Given the description of an element on the screen output the (x, y) to click on. 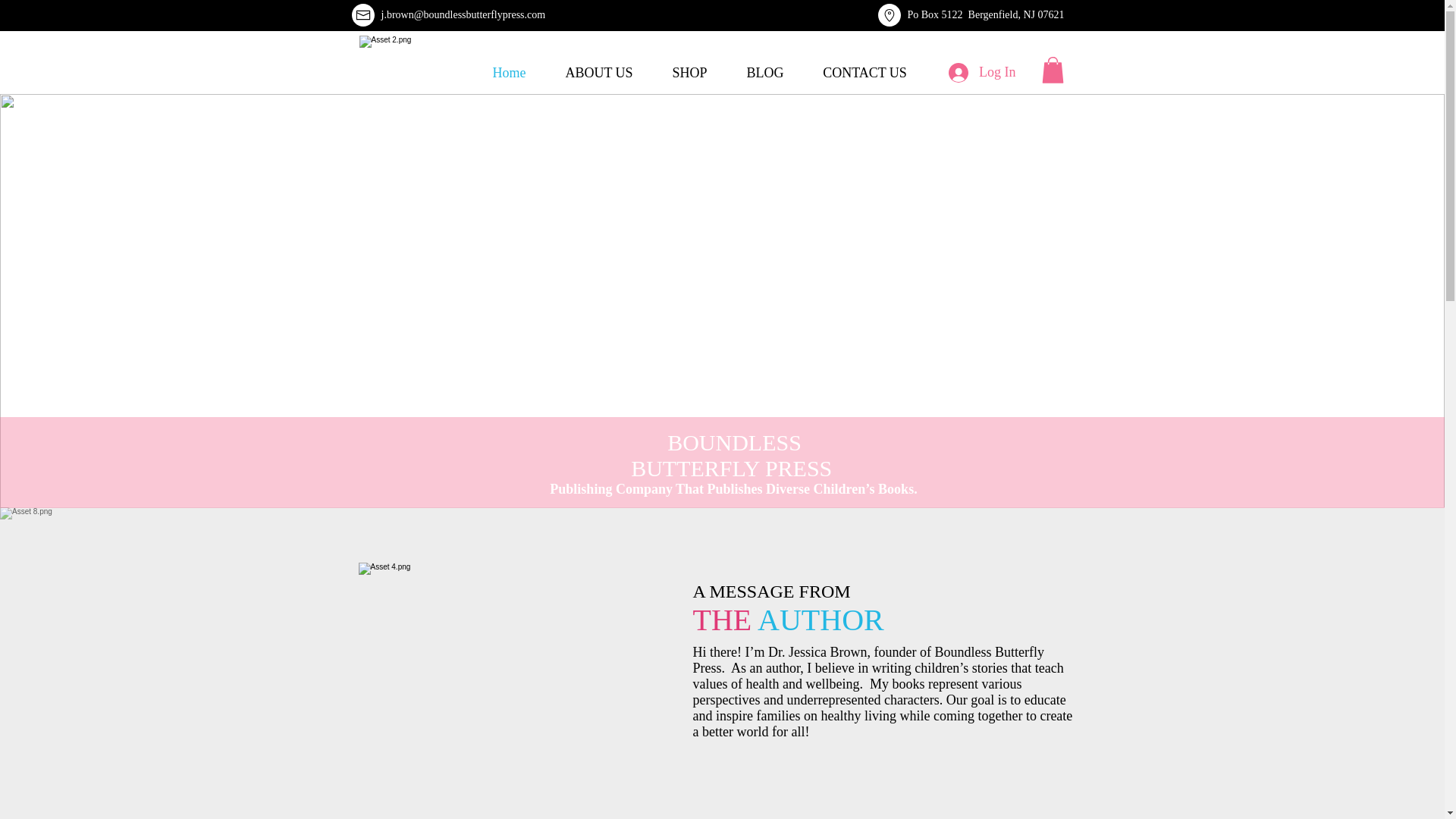
Home (509, 72)
Log In (981, 71)
ABOUT US (599, 72)
SHOP (689, 72)
BLOG (764, 72)
CONTACT US (864, 72)
